Given the description of an element on the screen output the (x, y) to click on. 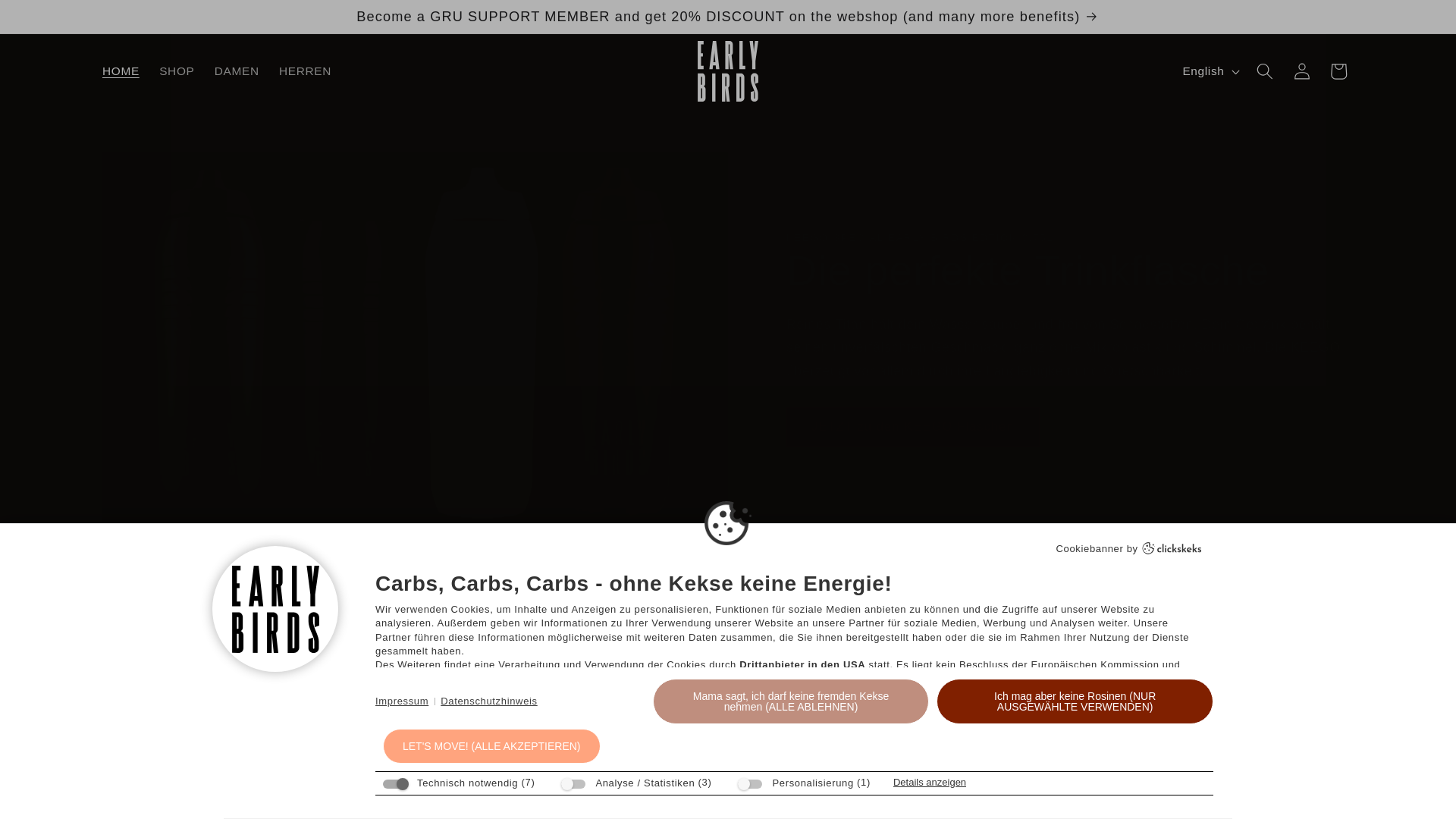
Clickskeks Logo (1171, 548)
0 (1159, 710)
Clickskeks Logo (1171, 549)
0 (901, 710)
Clickskeks (1171, 549)
Datenschutzhinweis (489, 701)
SHOP (177, 71)
Details anzeigen (929, 781)
Skip to content (50, 19)
0 (384, 710)
